Given the description of an element on the screen output the (x, y) to click on. 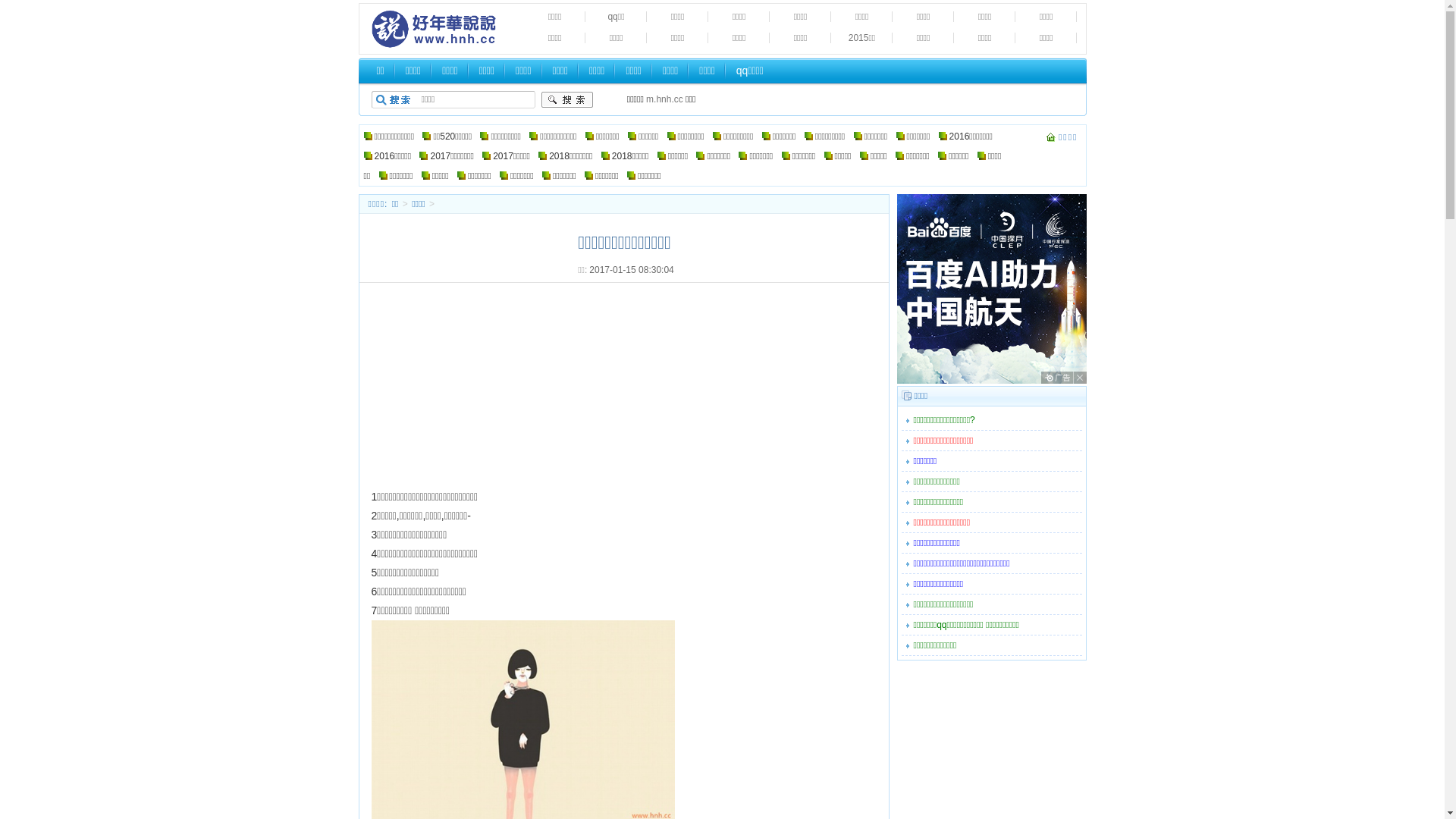
m.hnh.cc Element type: text (664, 99)
